Given the description of an element on the screen output the (x, y) to click on. 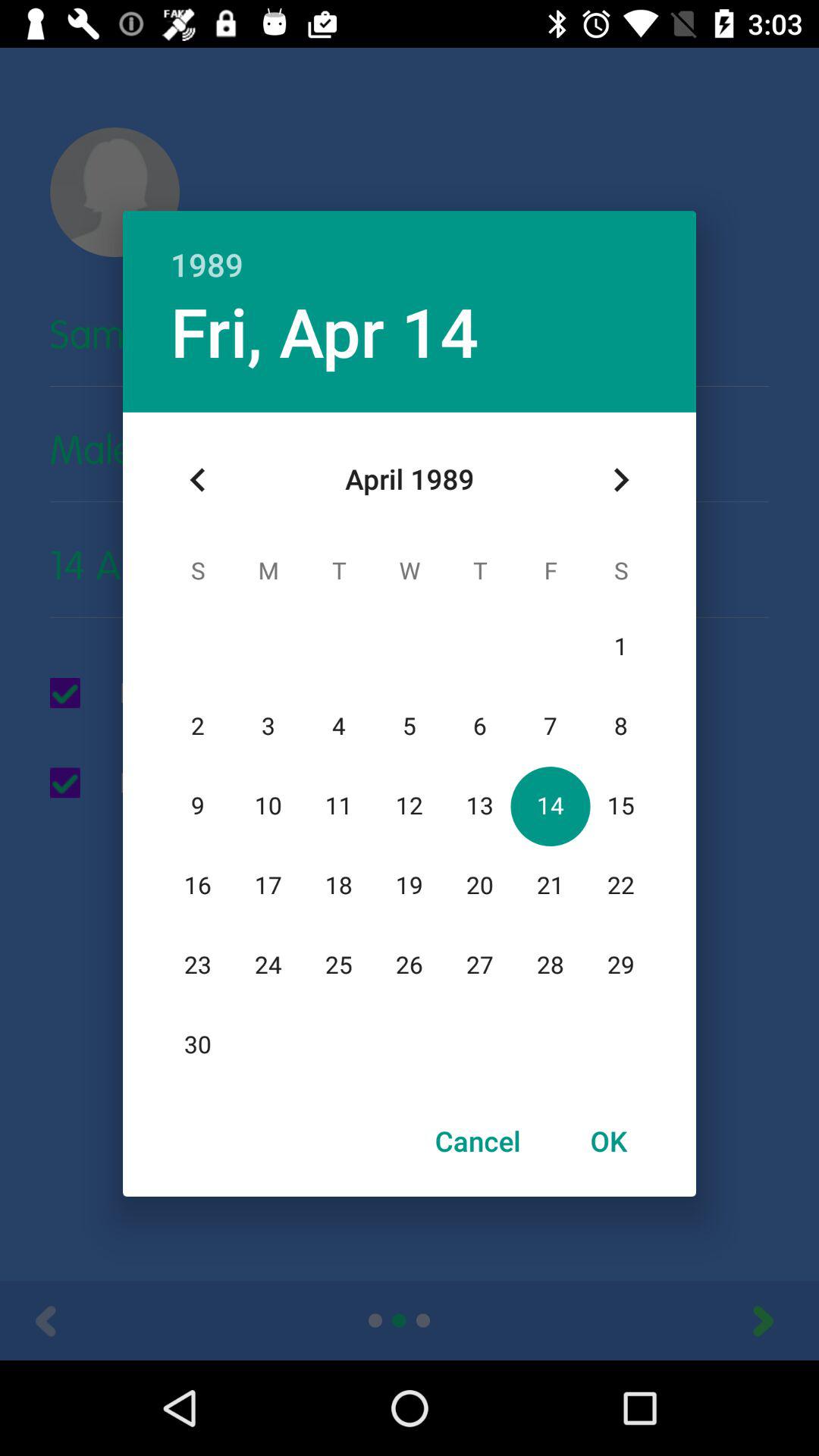
launch icon at the bottom right corner (608, 1140)
